Given the description of an element on the screen output the (x, y) to click on. 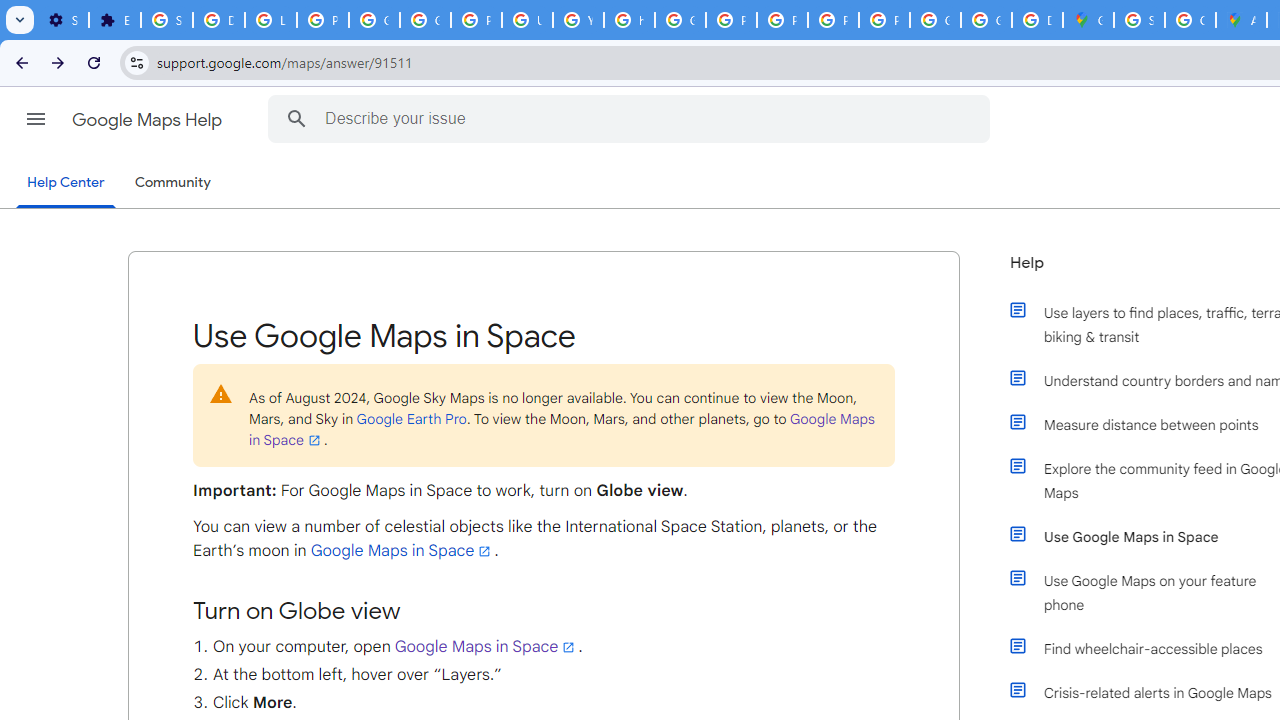
Search Help Center (297, 118)
Help Center (65, 183)
Google Maps in Space (486, 646)
YouTube (578, 20)
Community (171, 183)
Main menu (35, 119)
Sign in - Google Accounts (1138, 20)
Sign in - Google Accounts (166, 20)
